Given the description of an element on the screen output the (x, y) to click on. 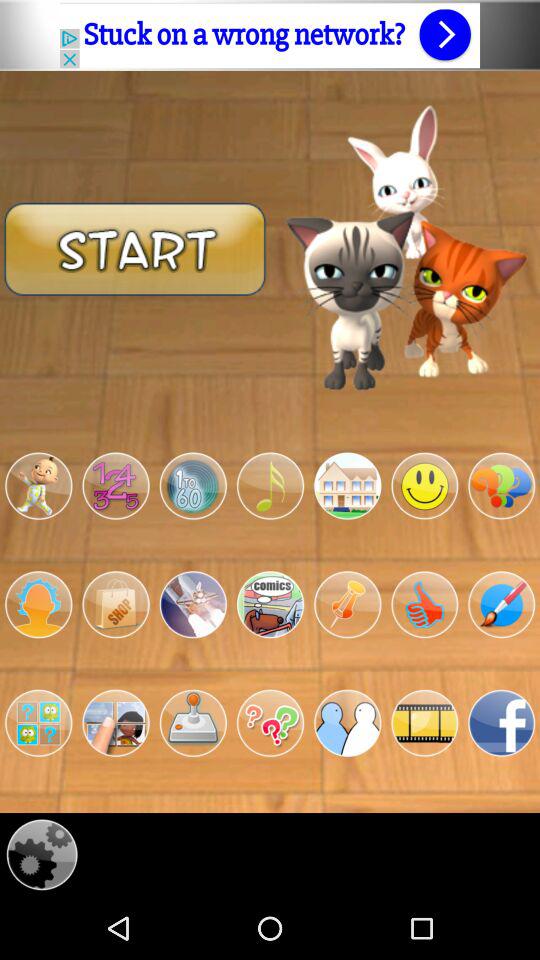
start game (38, 723)
